Given the description of an element on the screen output the (x, y) to click on. 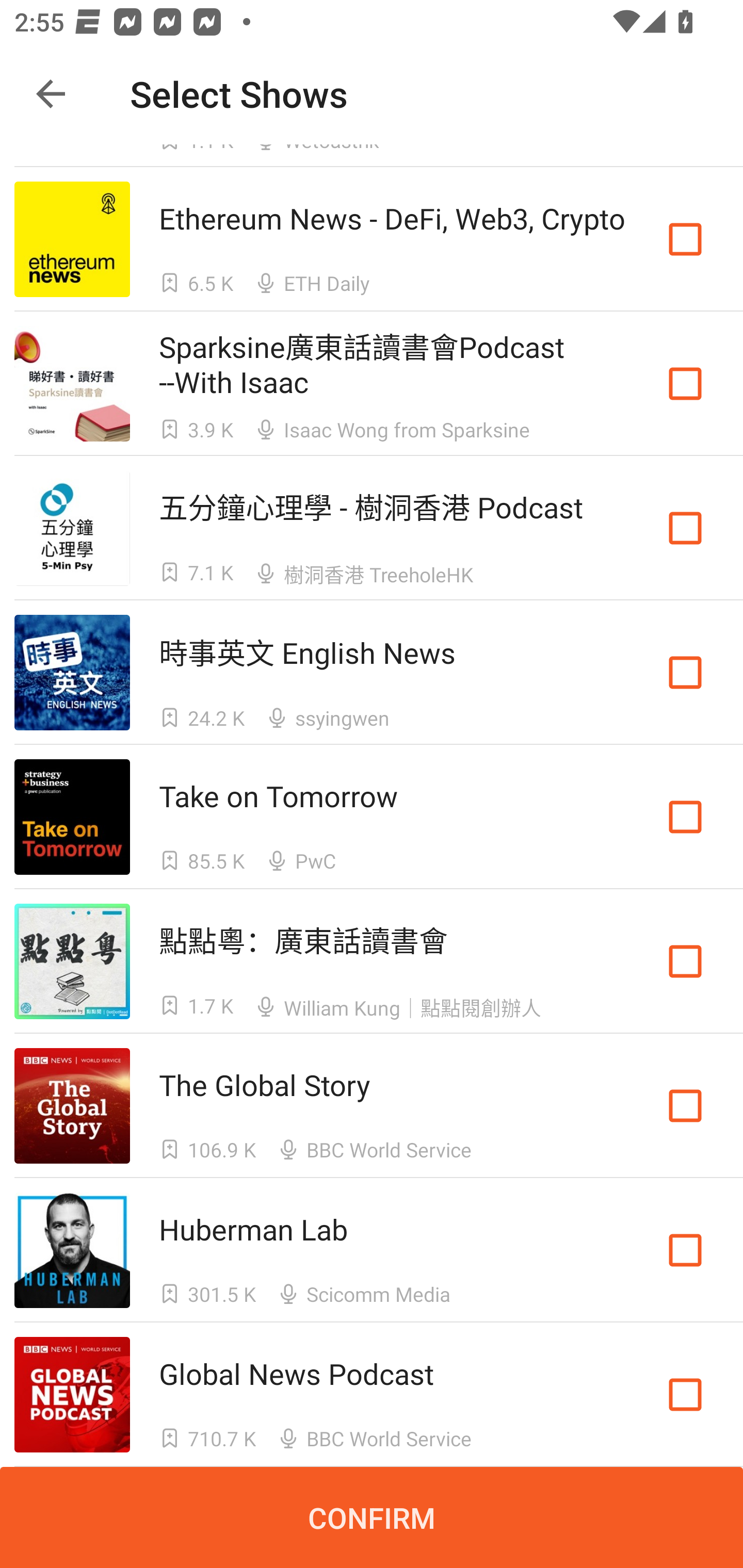
Navigate up (50, 93)
Take on Tomorrow Take on Tomorrow  85.5 K  PwC (371, 816)
CONFIRM (371, 1517)
